Given the description of an element on the screen output the (x, y) to click on. 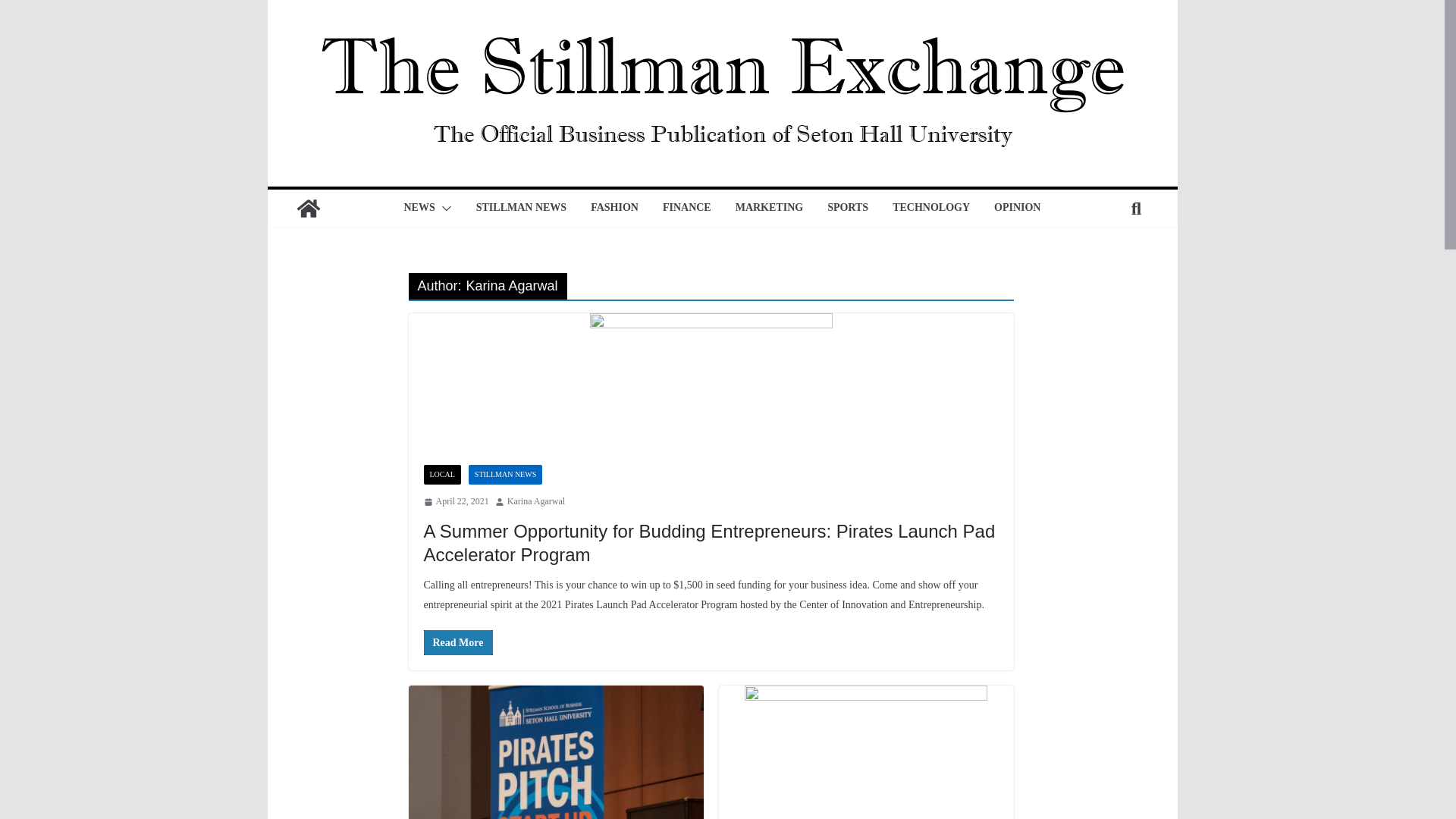
Pirates Pitch: An Incubator for Passion, Courage, and Grit (555, 752)
Read More (457, 642)
April 22, 2021 (455, 501)
FINANCE (686, 208)
Karina Agarwal (535, 501)
Dare to Be Mighty: A Slogan to Live by (866, 752)
MARKETING (769, 208)
The Stillman Exchange (307, 208)
